Given the description of an element on the screen output the (x, y) to click on. 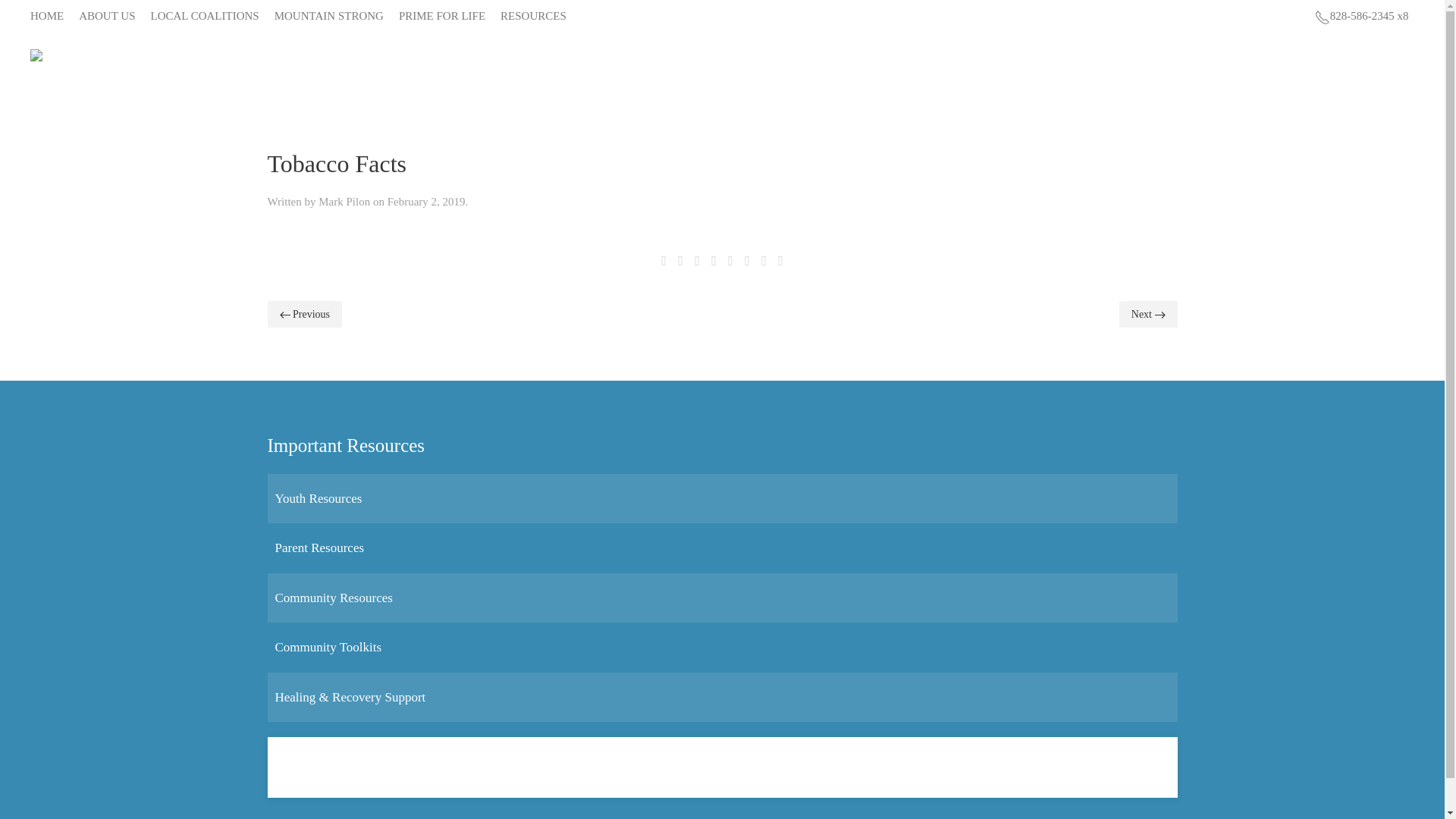
Community Resources (333, 597)
PRIME FOR LIFE (441, 16)
Next (1148, 314)
ABOUT US (106, 16)
Youth Resources (318, 498)
Previous (304, 314)
Parent Resources (319, 547)
Community Toolkits (328, 646)
LOCAL COALITIONS (204, 16)
RESOURCES (533, 16)
